Given the description of an element on the screen output the (x, y) to click on. 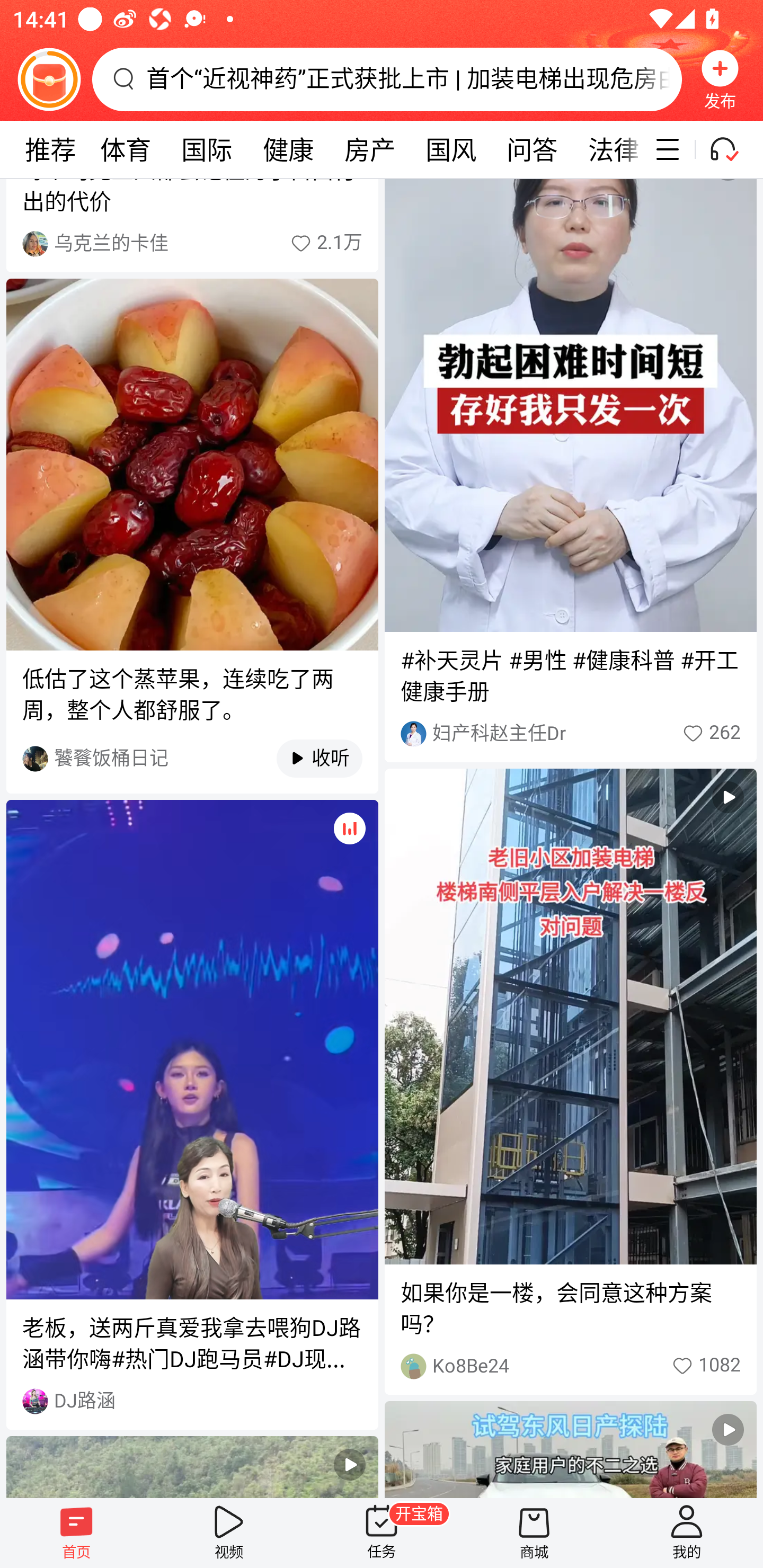
阅读赚金币 (48, 79)
发布 发布，按钮 (720, 78)
推荐 (49, 149)
体育 (125, 149)
国际 (206, 149)
健康 (288, 149)
房产 (369, 149)
国风 (450, 149)
问答 (532, 149)
法律 (608, 149)
听一听开关 (732, 149)
作者,乌克兰的卡佳,按钮 乌克兰的卡佳 赞2.1万 赞 (192, 243)
低估了这个蒸苹果，连续吃了两周，整个人都舒服了。  作者,饕餮饭桶日记,按钮 饕餮饭桶日记 收听 (192, 536)
作者,妇产科赵主任Dr,按钮 妇产科赵主任Dr 赞262 赞 (570, 733)
作者,饕餮饭桶日记,按钮 饕餮饭桶日记 收听 (192, 757)
收听 (309, 758)
视频 如果你是一楼，会同意这种方案吗？  作者,Ko8Be24,按钮 Ko8Be24 赞1082 赞 (570, 1081)
作者,Ko8Be24,按钮 Ko8Be24 赞1082 赞 (570, 1366)
首页 (76, 1532)
视频 (228, 1532)
任务 开宝箱 (381, 1532)
商城 (533, 1532)
我的 (686, 1532)
